Given the description of an element on the screen output the (x, y) to click on. 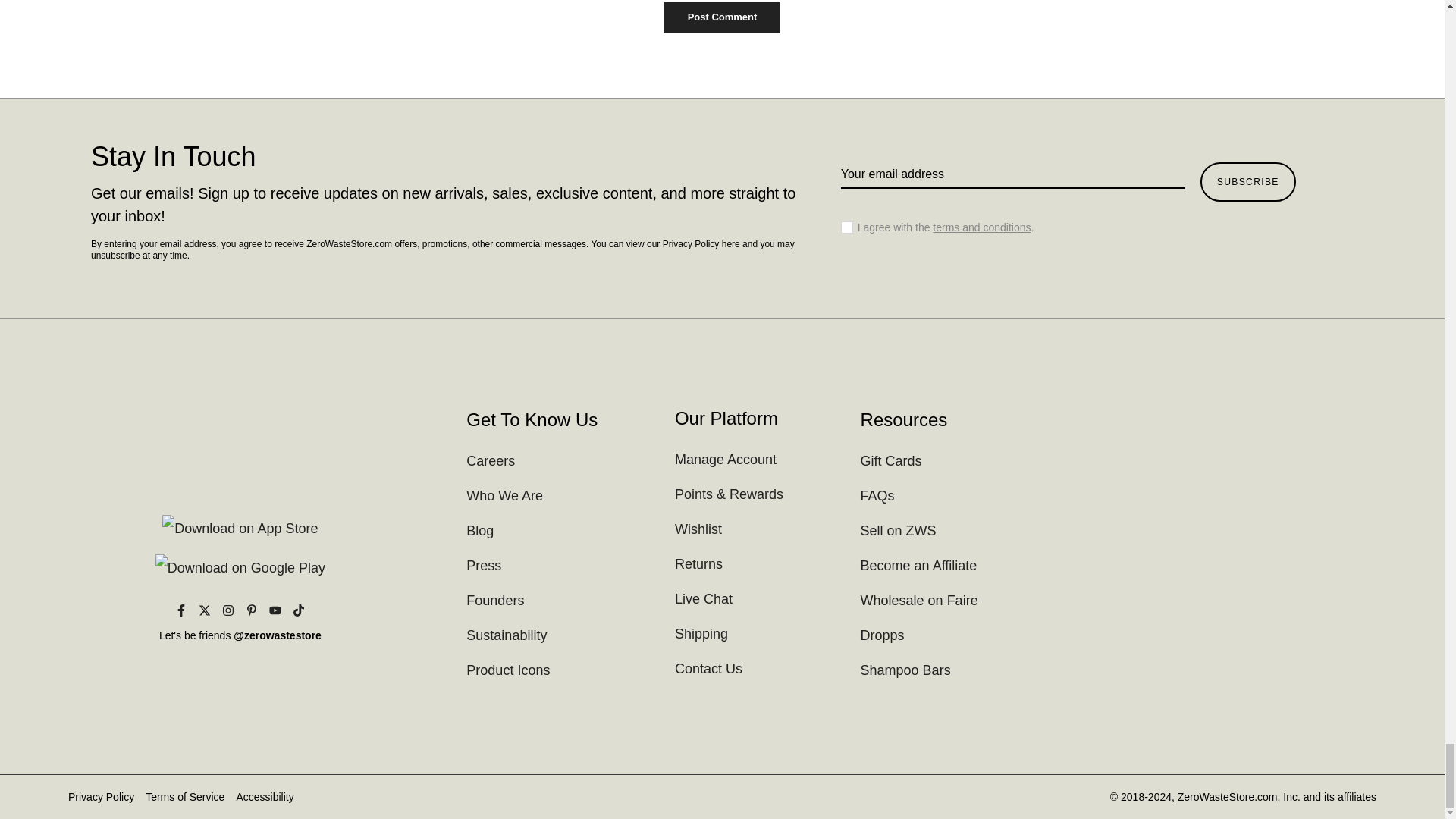
Follow on Pinterest (251, 610)
Follow on YouTube (275, 610)
Follow on Facebook (180, 610)
Follow on Instagram (228, 610)
Follow on Tiktok (298, 610)
Follow on Twitter (204, 610)
Post Comment (721, 17)
